Given the description of an element on the screen output the (x, y) to click on. 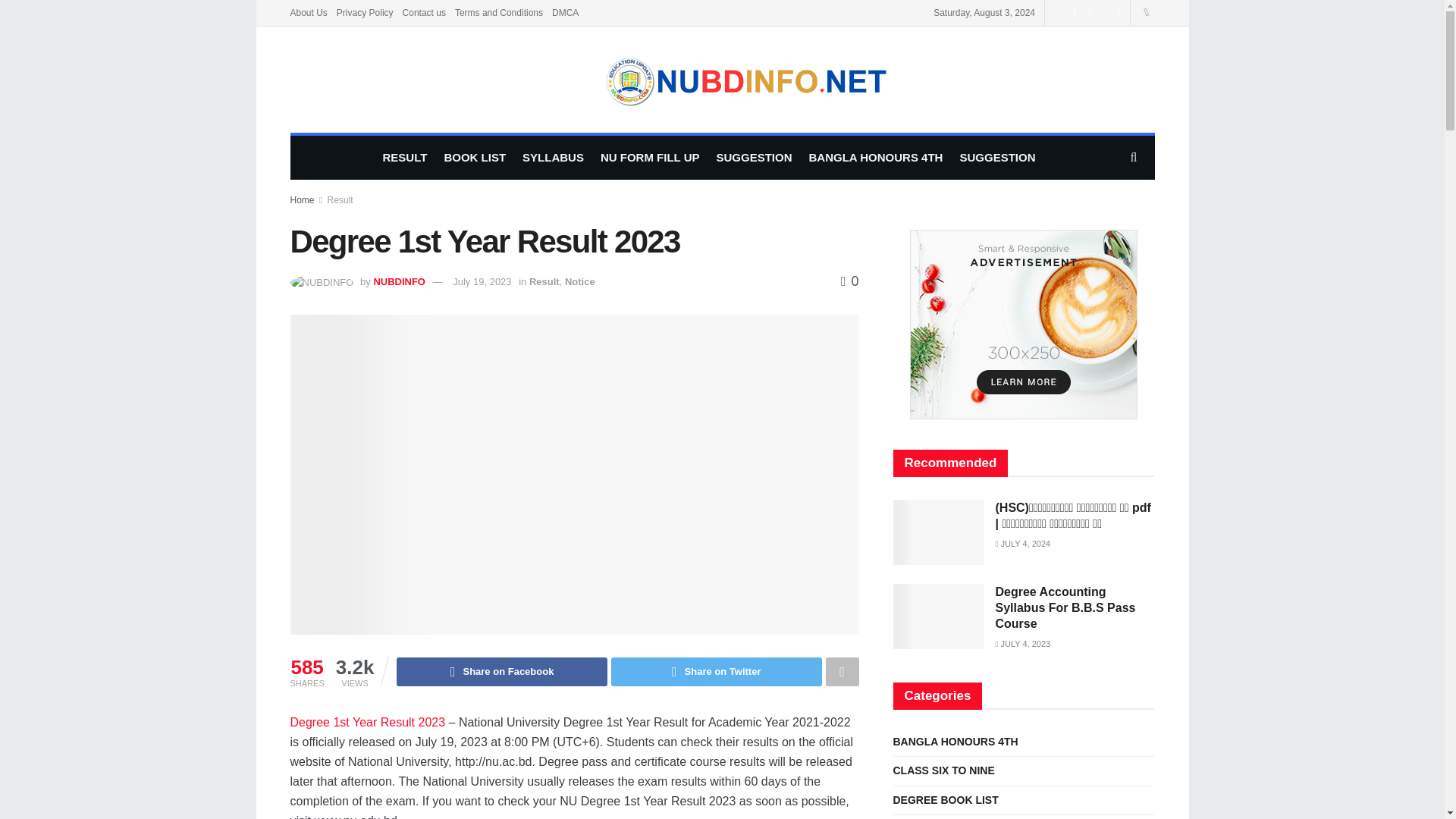
DMCA (564, 12)
Privacy Policy (364, 12)
BOOK LIST (474, 157)
RESULT (405, 157)
About Us (307, 12)
BANGLA HONOURS 4TH (875, 157)
NU FORM FILL UP (649, 157)
Terms and Conditions (498, 12)
SUGGESTION (997, 157)
Contact us (424, 12)
